Given the description of an element on the screen output the (x, y) to click on. 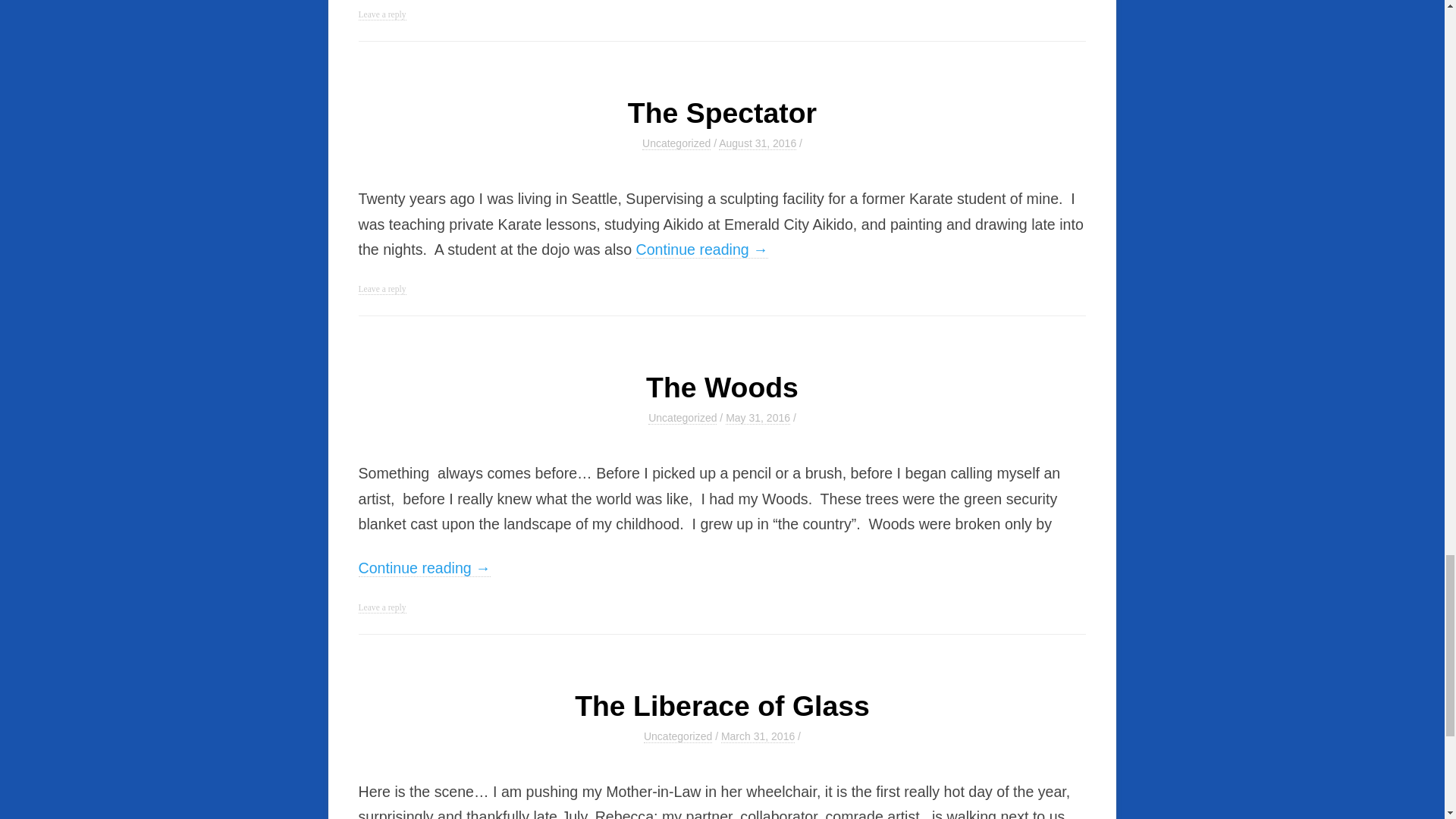
Leave a reply (382, 14)
5:24 pm (757, 143)
5:28 pm (757, 736)
Uncategorized (676, 143)
5:27 pm (757, 418)
The Spectator (721, 112)
August 31, 2016 (757, 143)
